Given the description of an element on the screen output the (x, y) to click on. 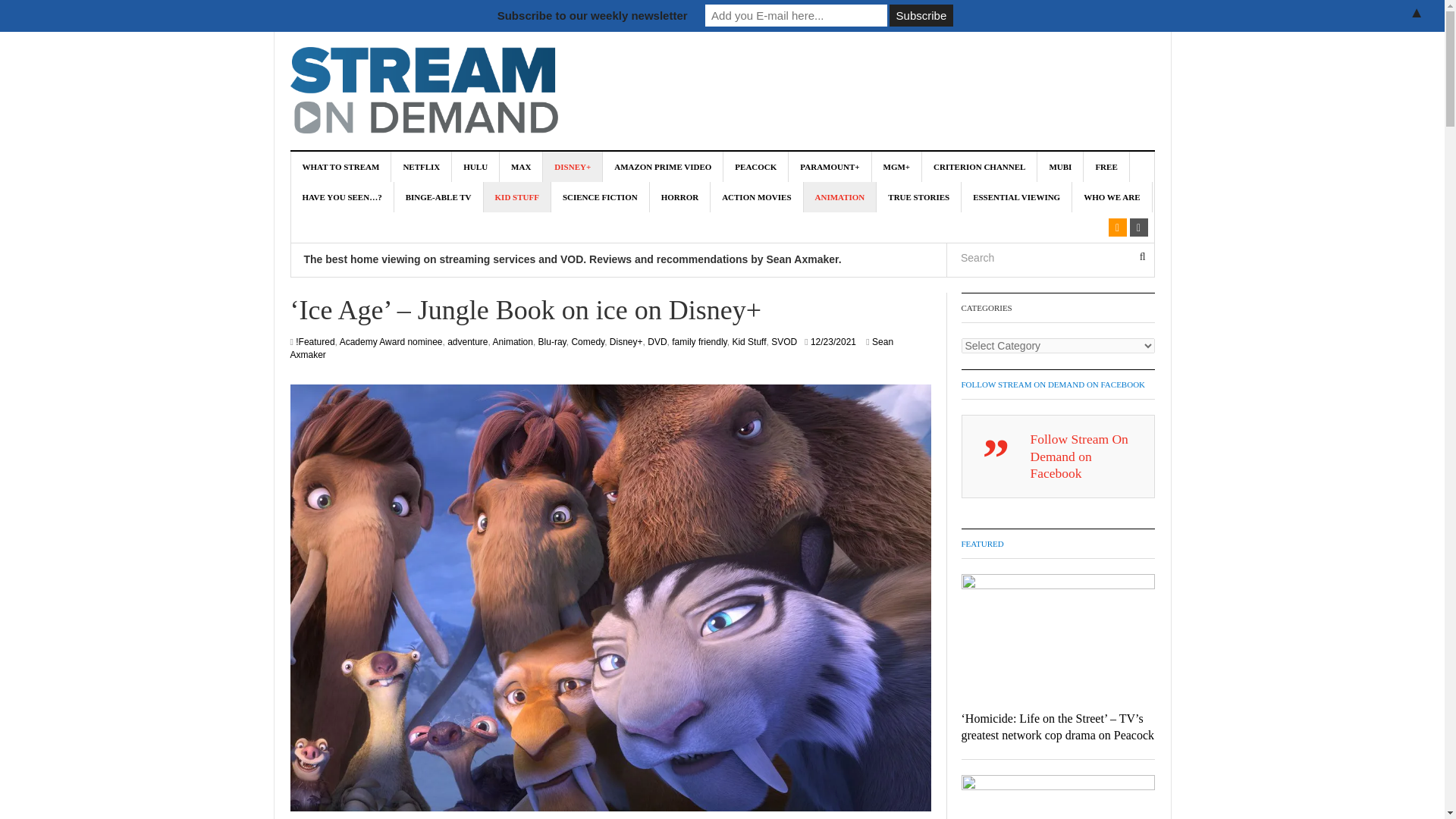
Blu-ray (552, 341)
Academy Award nominee (390, 341)
HORROR (680, 196)
BINGE-ABLE TV (438, 196)
ANIMATION (840, 196)
ACTION MOVIES (756, 196)
ESSENTIAL VIEWING (1015, 196)
MUBI (1059, 166)
adventure (466, 341)
Stream On Demand (423, 89)
